Given the description of an element on the screen output the (x, y) to click on. 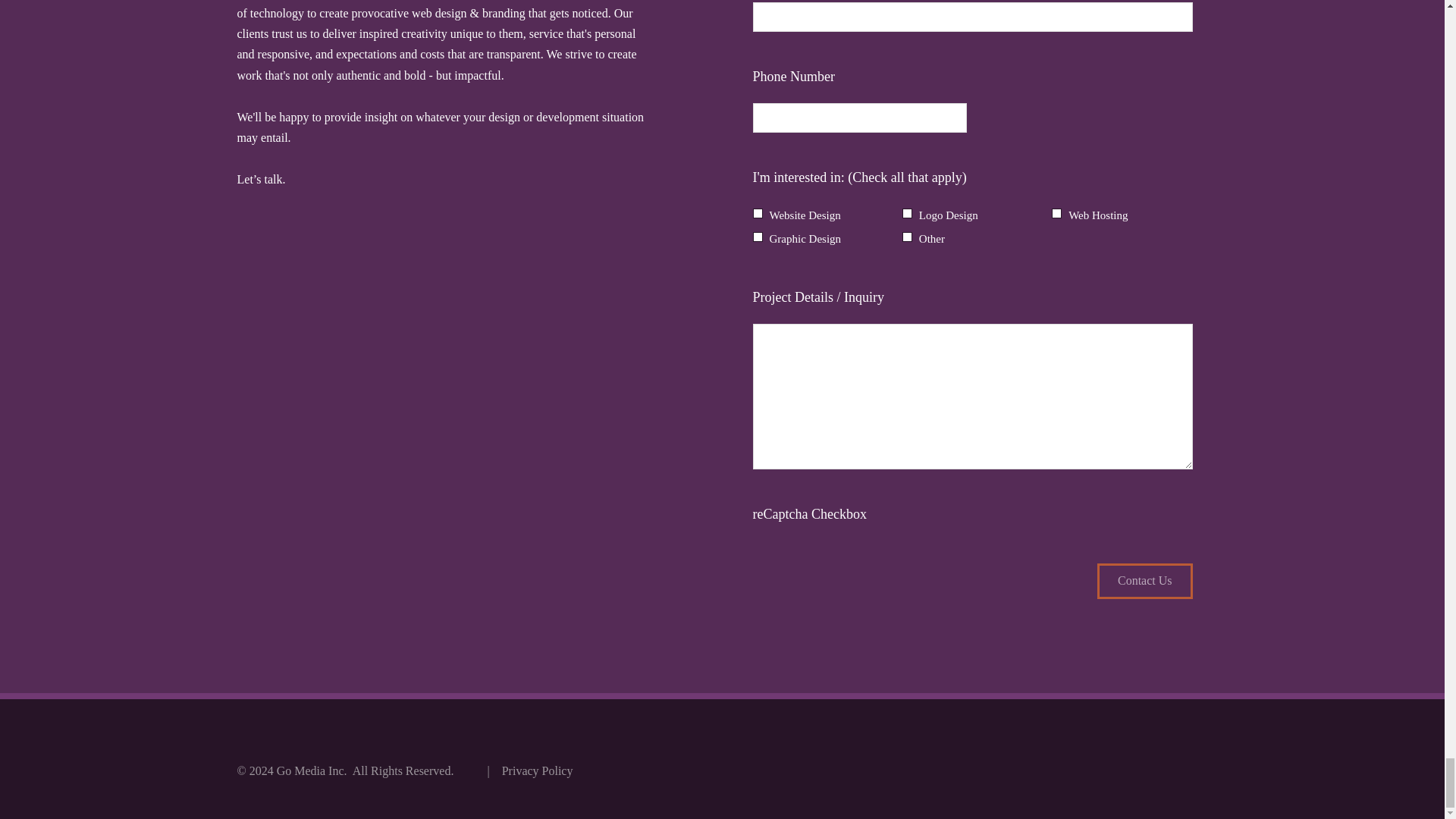
Contact Us (1144, 580)
